Given the description of an element on the screen output the (x, y) to click on. 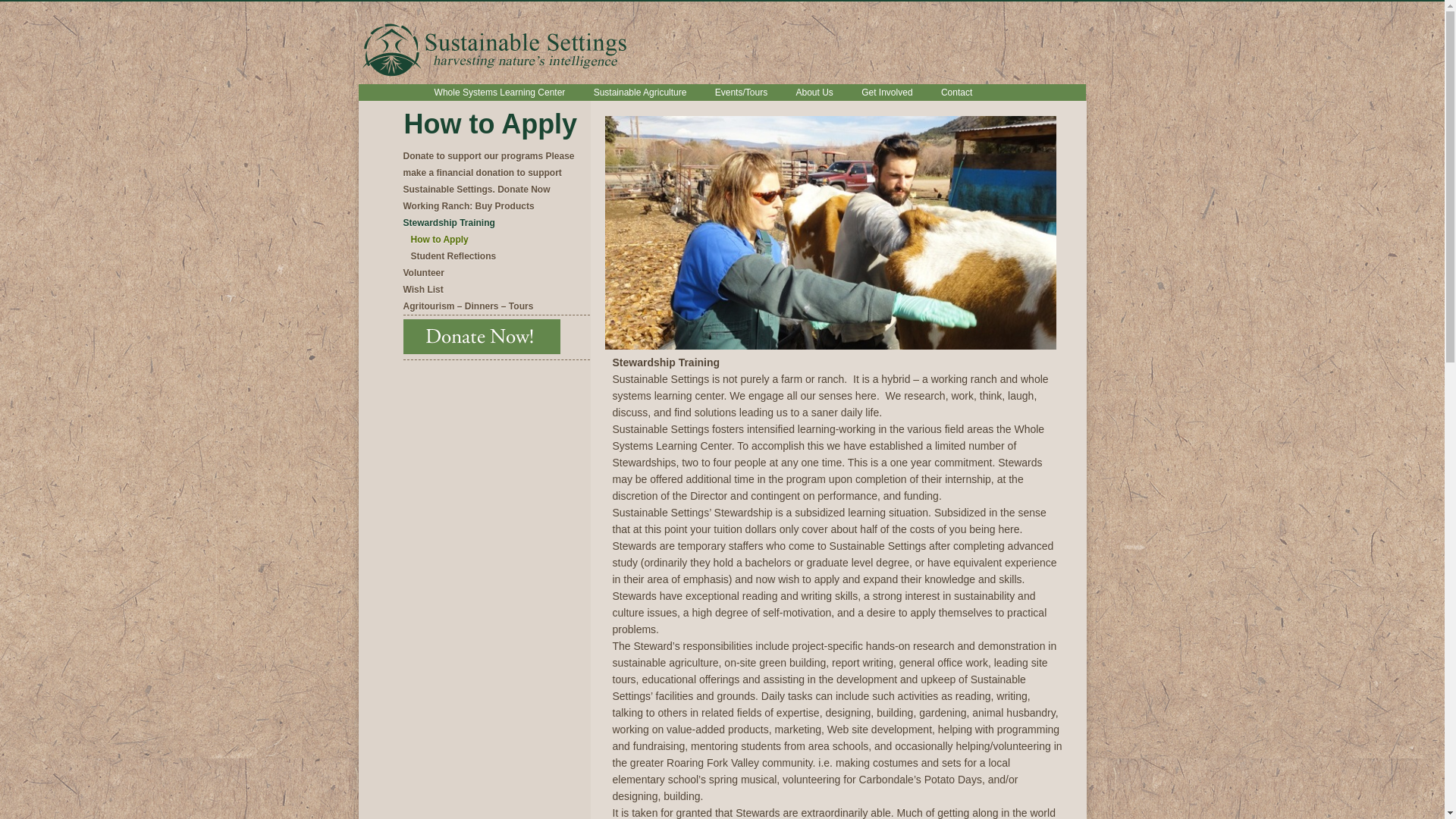
Whole Systems Learning Center (499, 92)
Sustainable Agriculture (640, 92)
About Us (813, 92)
